Given the description of an element on the screen output the (x, y) to click on. 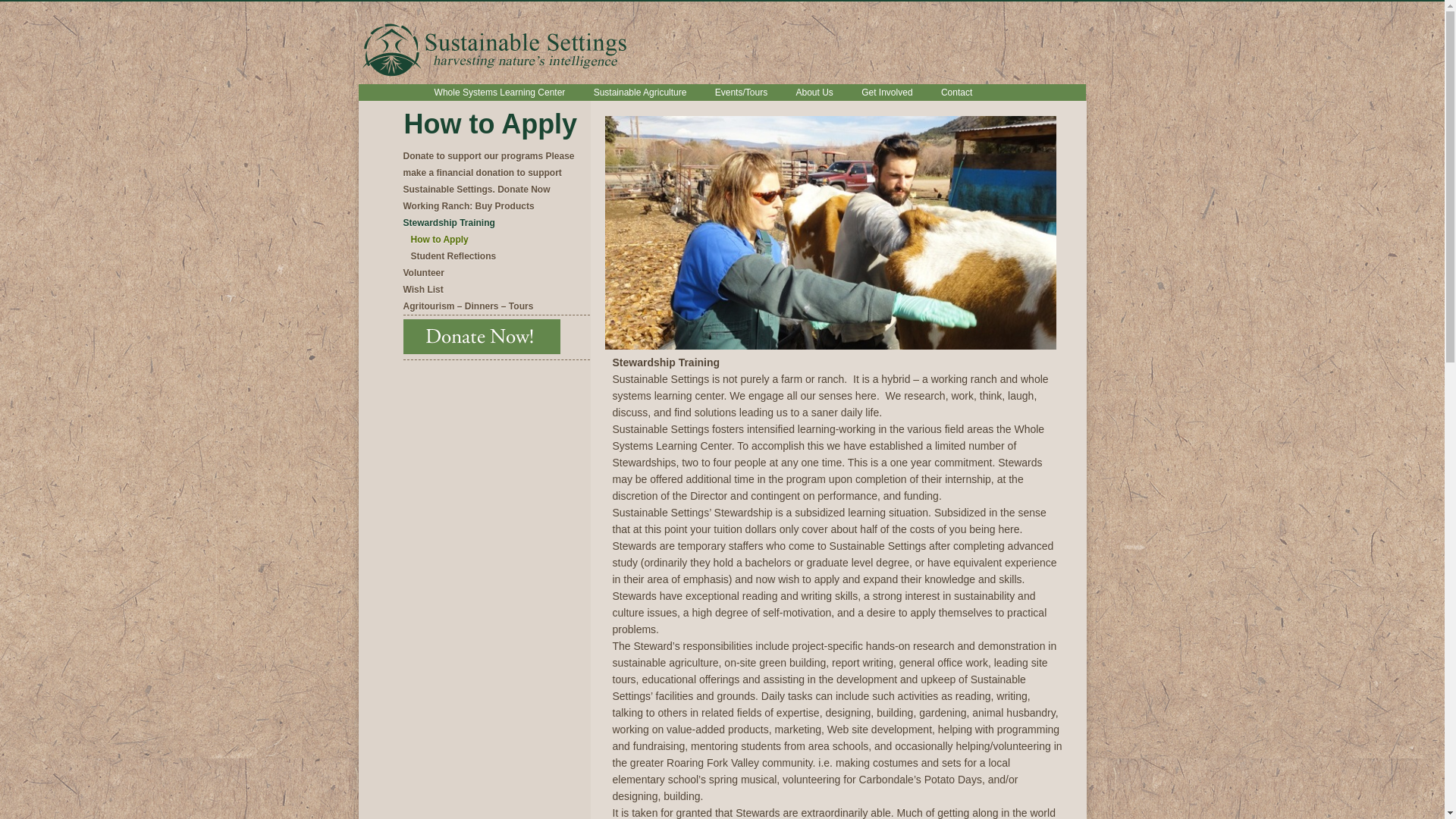
Whole Systems Learning Center (499, 92)
Sustainable Agriculture (640, 92)
About Us (813, 92)
